Given the description of an element on the screen output the (x, y) to click on. 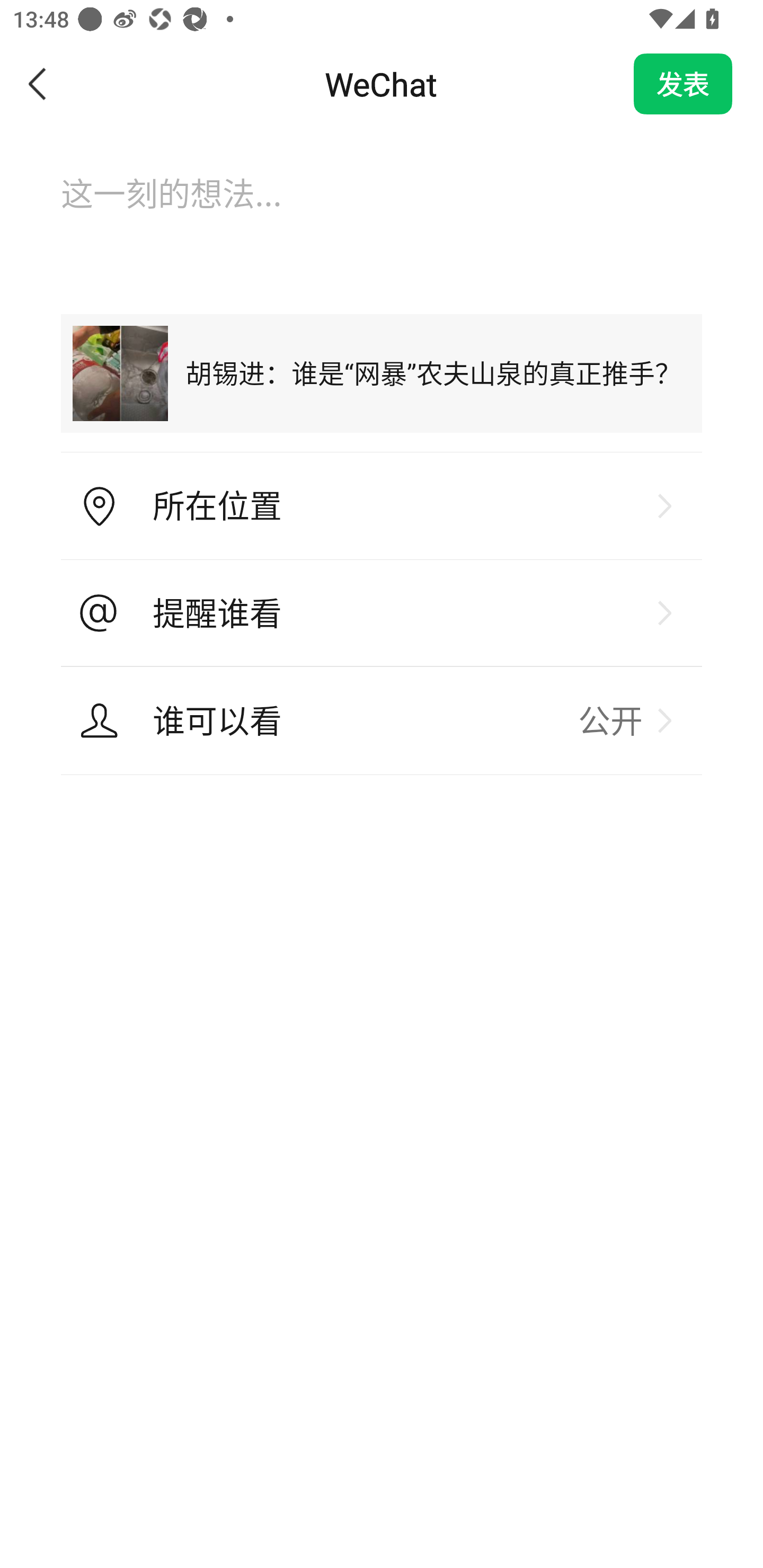
返回 (38, 83)
发表 (683, 83)
这一刻的想法... (381, 211)
胡锡进：谁是“网暴”农夫山泉的真正推手？ (381, 372)
所在位置 (381, 506)
提醒谁看  提醒谁看 (381, 612)
谁可以看 公开 (381, 720)
